Given the description of an element on the screen output the (x, y) to click on. 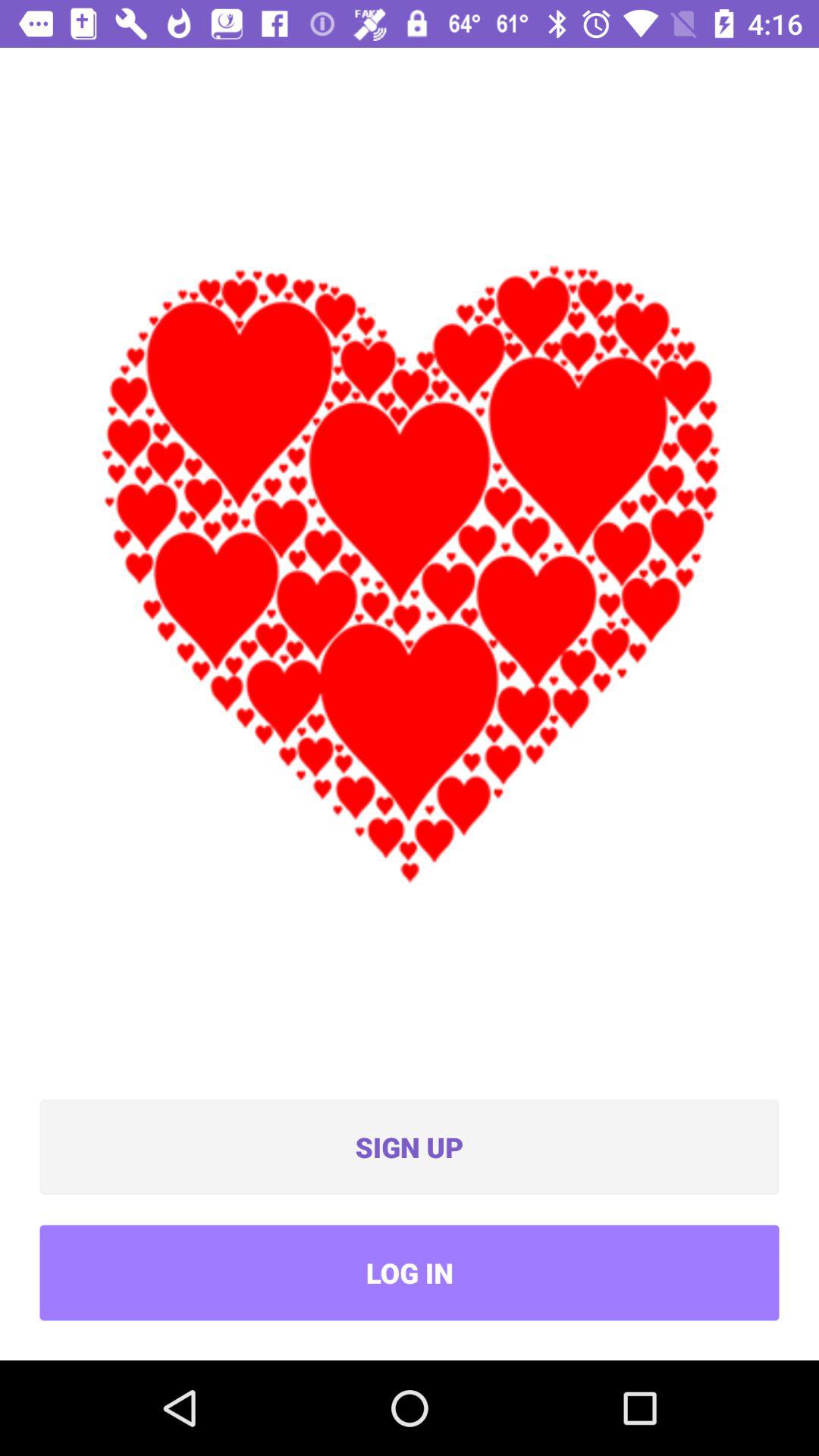
press the item below the sign up (409, 1272)
